Given the description of an element on the screen output the (x, y) to click on. 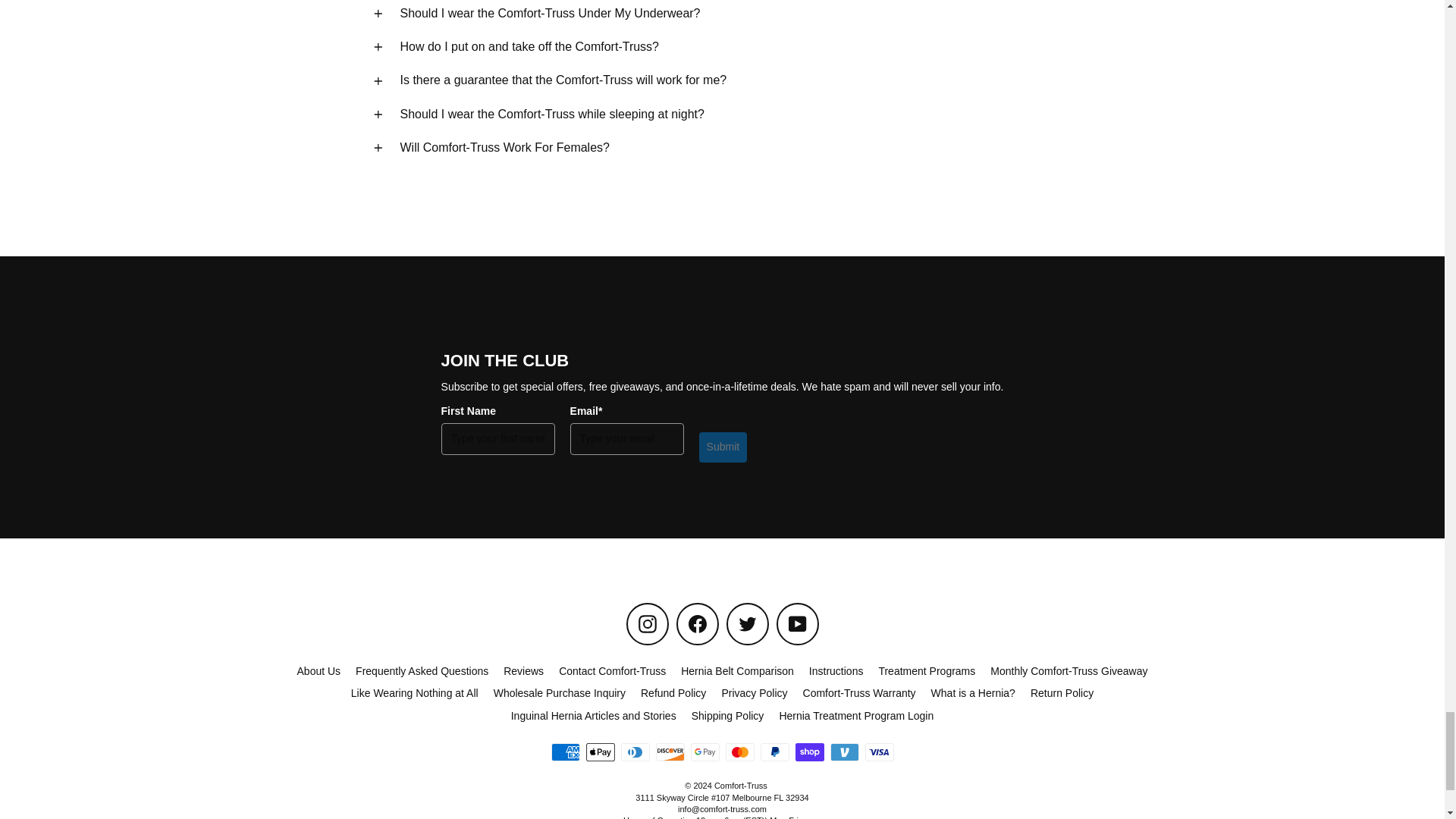
Comfort-Truss on Twitter (747, 623)
Comfort-Truss on YouTube (797, 623)
Comfort-Truss on Instagram (647, 623)
Comfort-Truss on Facebook (698, 623)
